Given the description of an element on the screen output the (x, y) to click on. 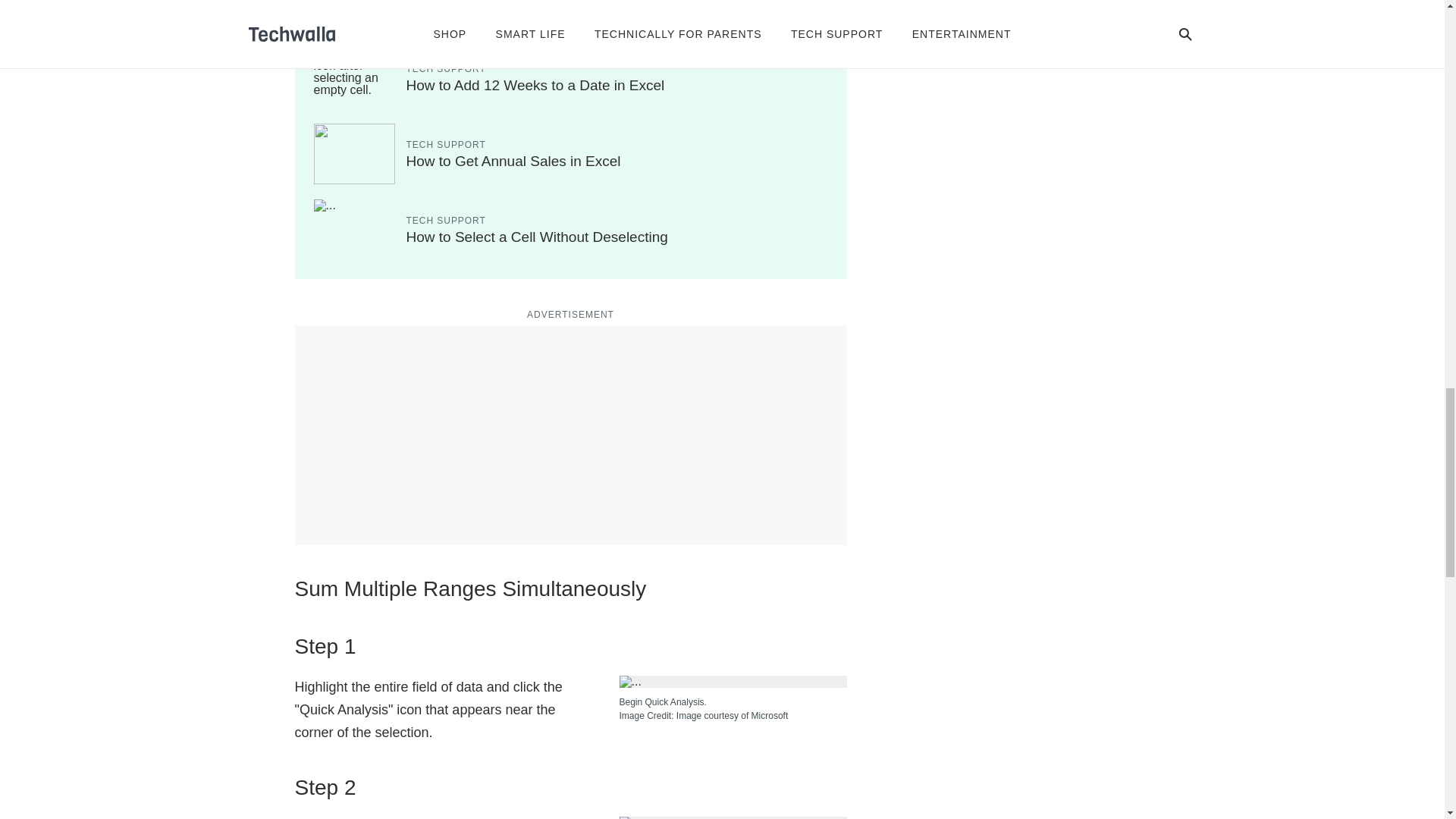
How to Add 12 Weeks to a Date in Excel (535, 84)
How to Select a Cell Without Deselecting (537, 236)
How to Get Annual Sales in Excel (513, 160)
